Given the description of an element on the screen output the (x, y) to click on. 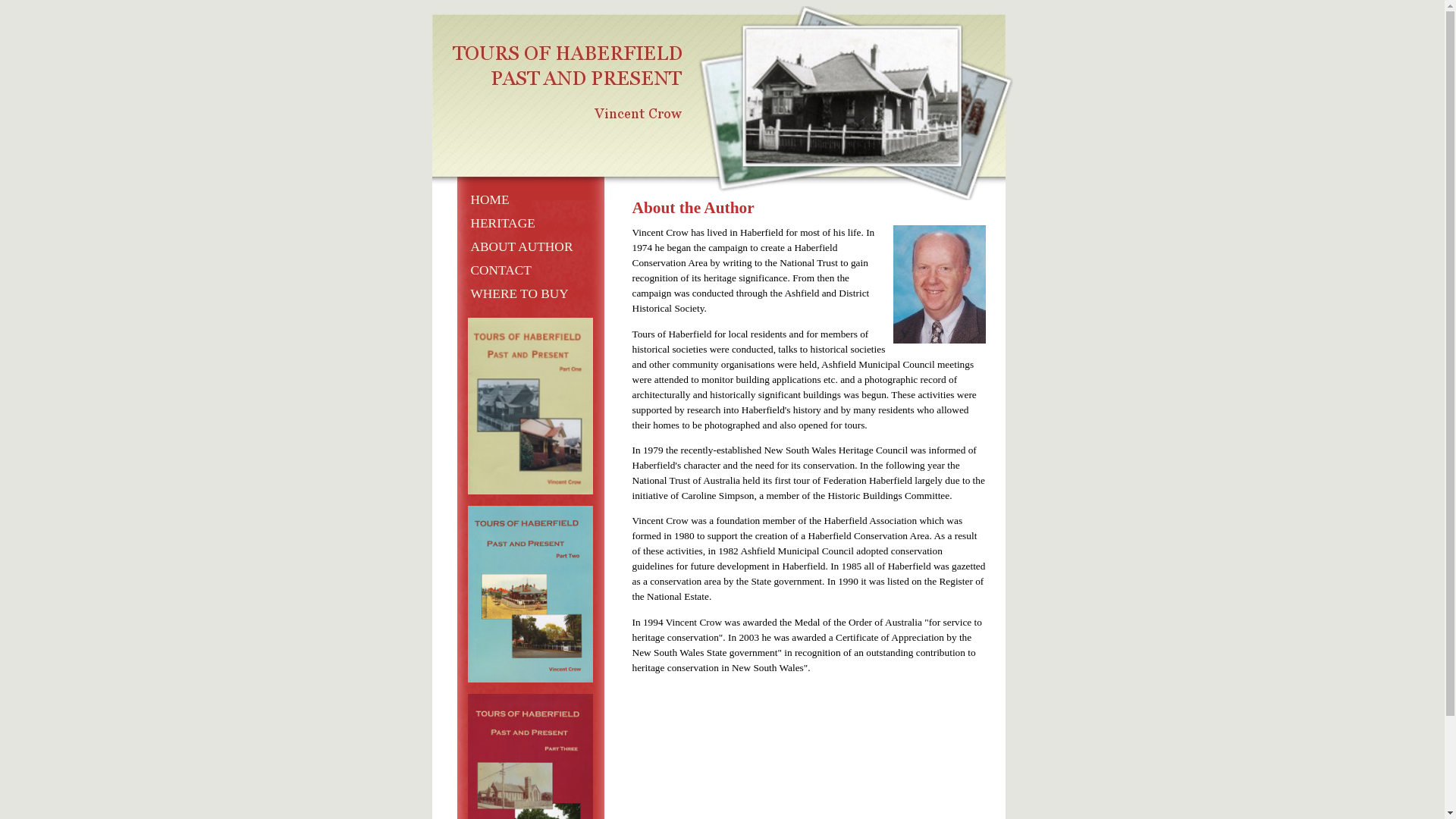
ABOUT AUTHOR Element type: text (521, 246)
CONTACT Element type: text (500, 270)
HERITAGE Element type: text (502, 223)
WHERE TO BUY Element type: text (518, 293)
HOME Element type: text (489, 199)
